Given the description of an element on the screen output the (x, y) to click on. 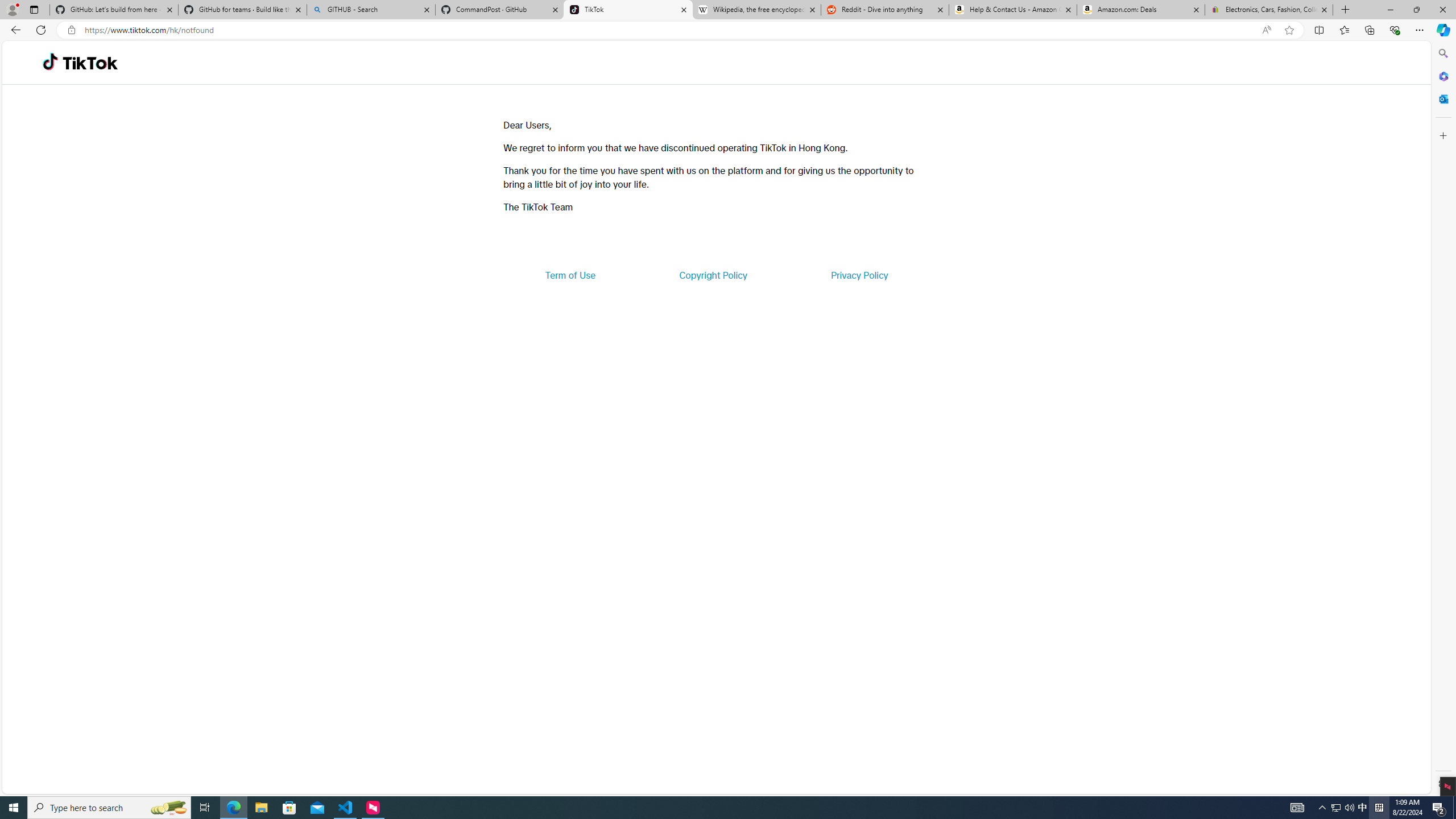
TikTok (89, 62)
Wikipedia, the free encyclopedia (756, 9)
Privacy Policy (858, 274)
Help & Contact Us - Amazon Customer Service (1012, 9)
Reddit - Dive into anything (884, 9)
